Given the description of an element on the screen output the (x, y) to click on. 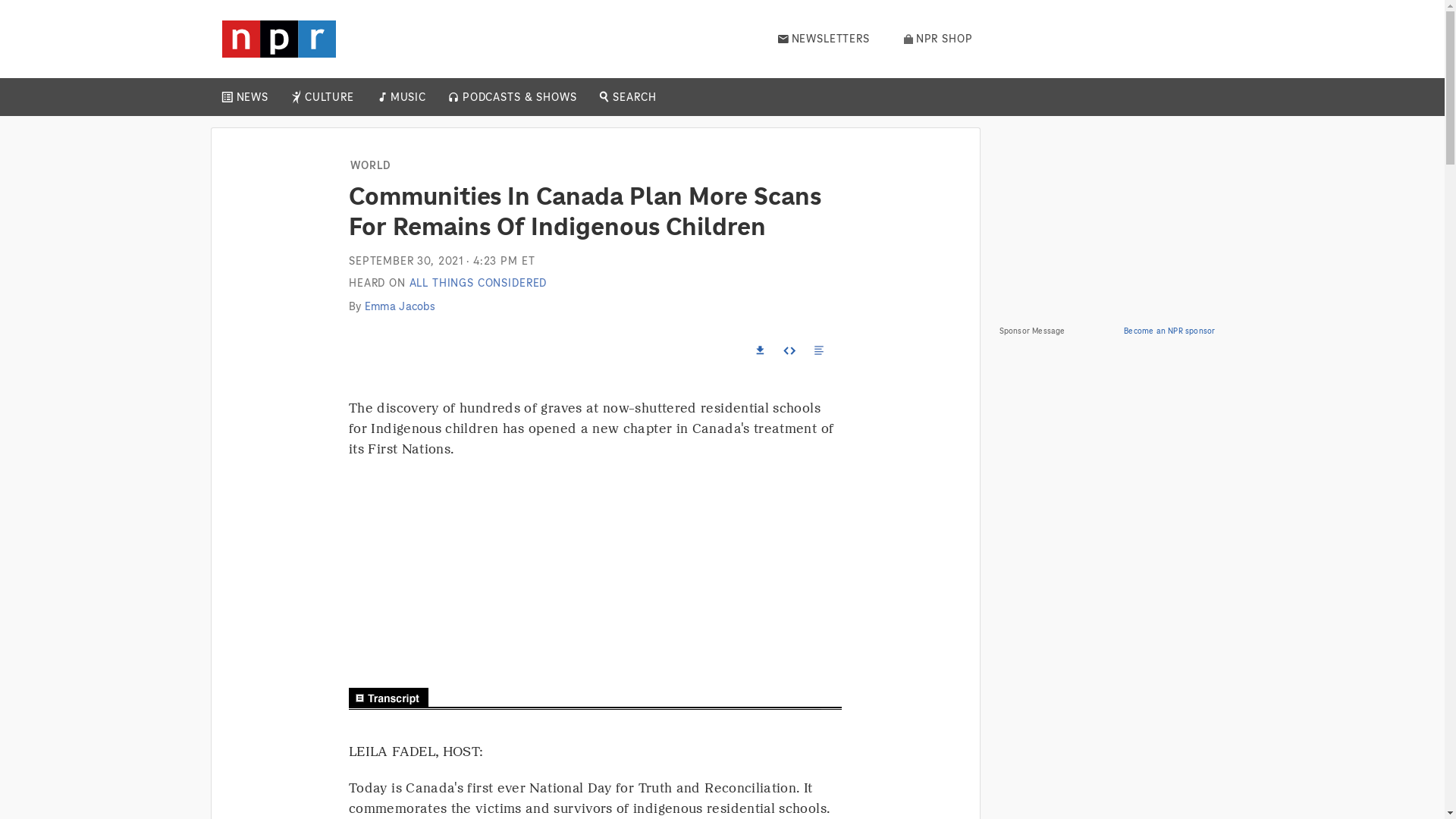
NEWSLETTERS (823, 38)
CULTURE (328, 96)
NPR SHOP (938, 38)
NEWS (251, 96)
MUSIC (407, 96)
